Given the description of an element on the screen output the (x, y) to click on. 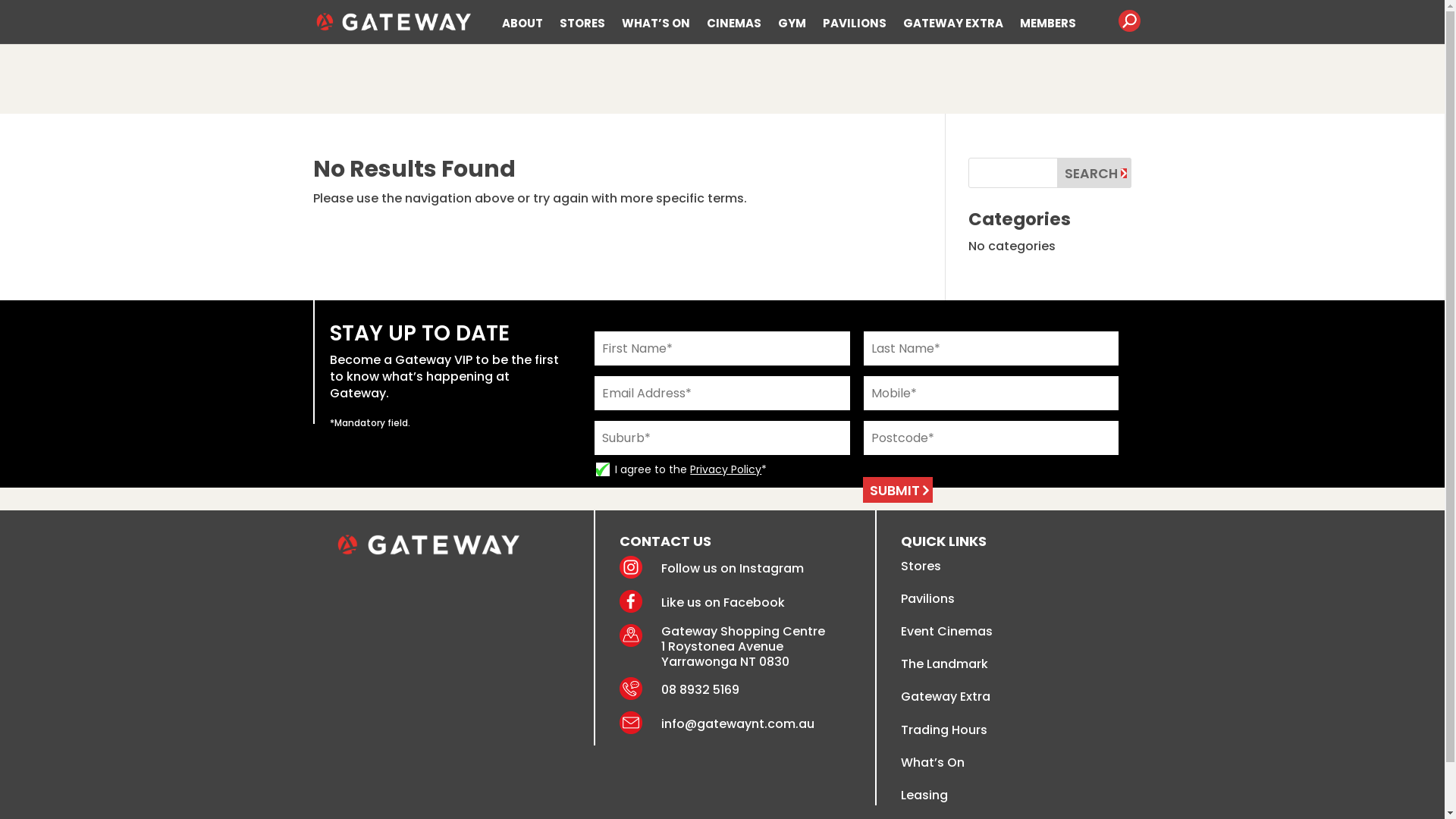
Follow us on Instagram Element type: text (732, 568)
Search Element type: text (1094, 172)
Like us on Facebook Element type: text (722, 602)
CINEMAS Element type: text (733, 23)
PAVILIONS Element type: text (853, 23)
STORES Element type: text (582, 23)
Privacy Policy Element type: text (725, 468)
Trading Hours Element type: text (943, 729)
GATEWAY EXTRA Element type: text (952, 23)
MEMBERS Element type: text (1047, 23)
The Landmark Element type: text (944, 663)
ABOUT Element type: text (522, 23)
gatewaynt-logo Element type: hover (427, 544)
Submit Element type: text (897, 489)
GYM Element type: text (792, 23)
Pavilions Element type: text (927, 598)
Stores Element type: text (920, 565)
Gateway Extra Element type: text (945, 696)
info@gatewaynt.com.au Element type: text (737, 723)
Leasing Element type: text (923, 794)
Event Cinemas Element type: text (946, 631)
